Given the description of an element on the screen output the (x, y) to click on. 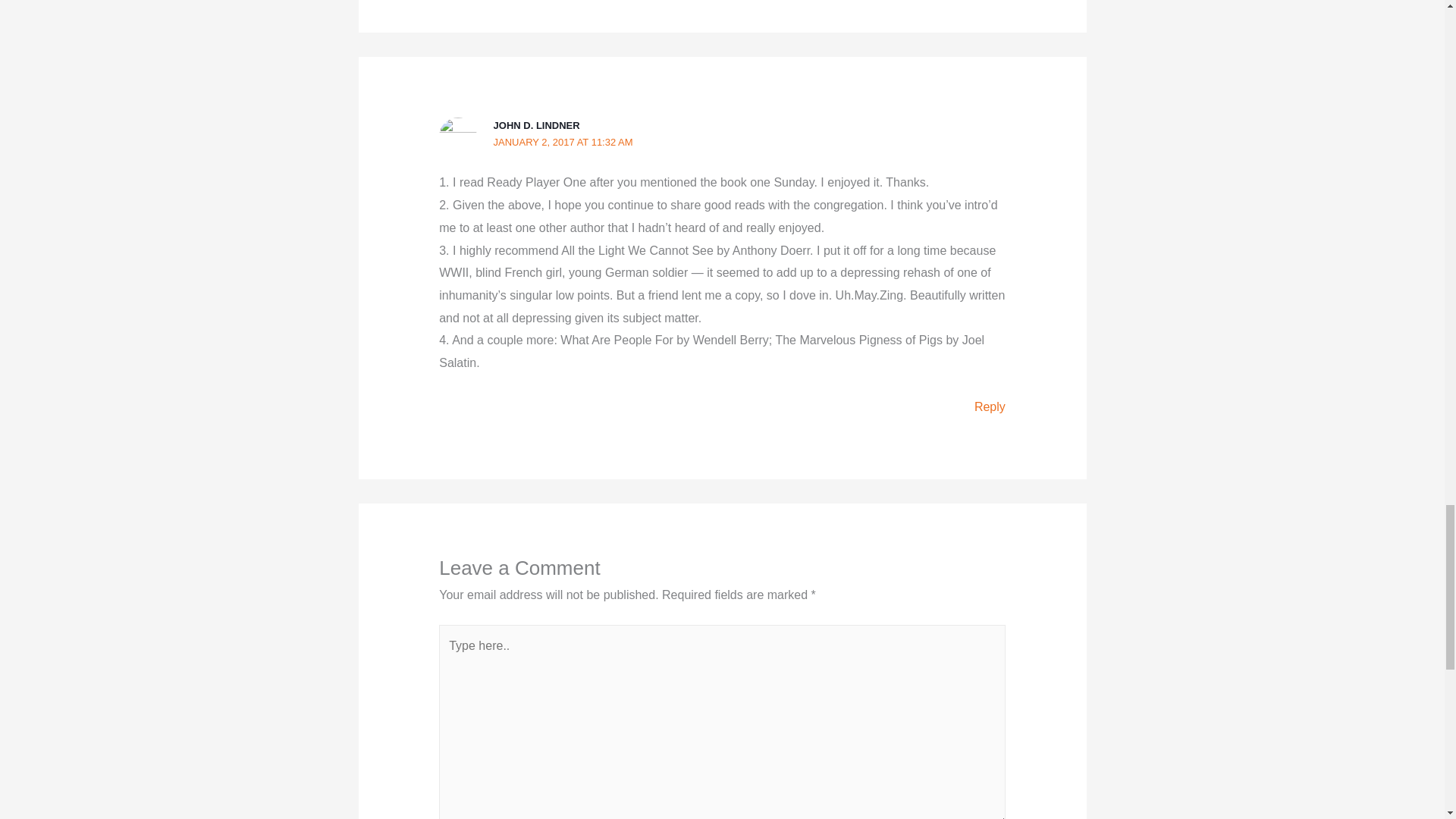
Reply (990, 406)
JANUARY 2, 2017 AT 11:32 AM (563, 142)
